Given the description of an element on the screen output the (x, y) to click on. 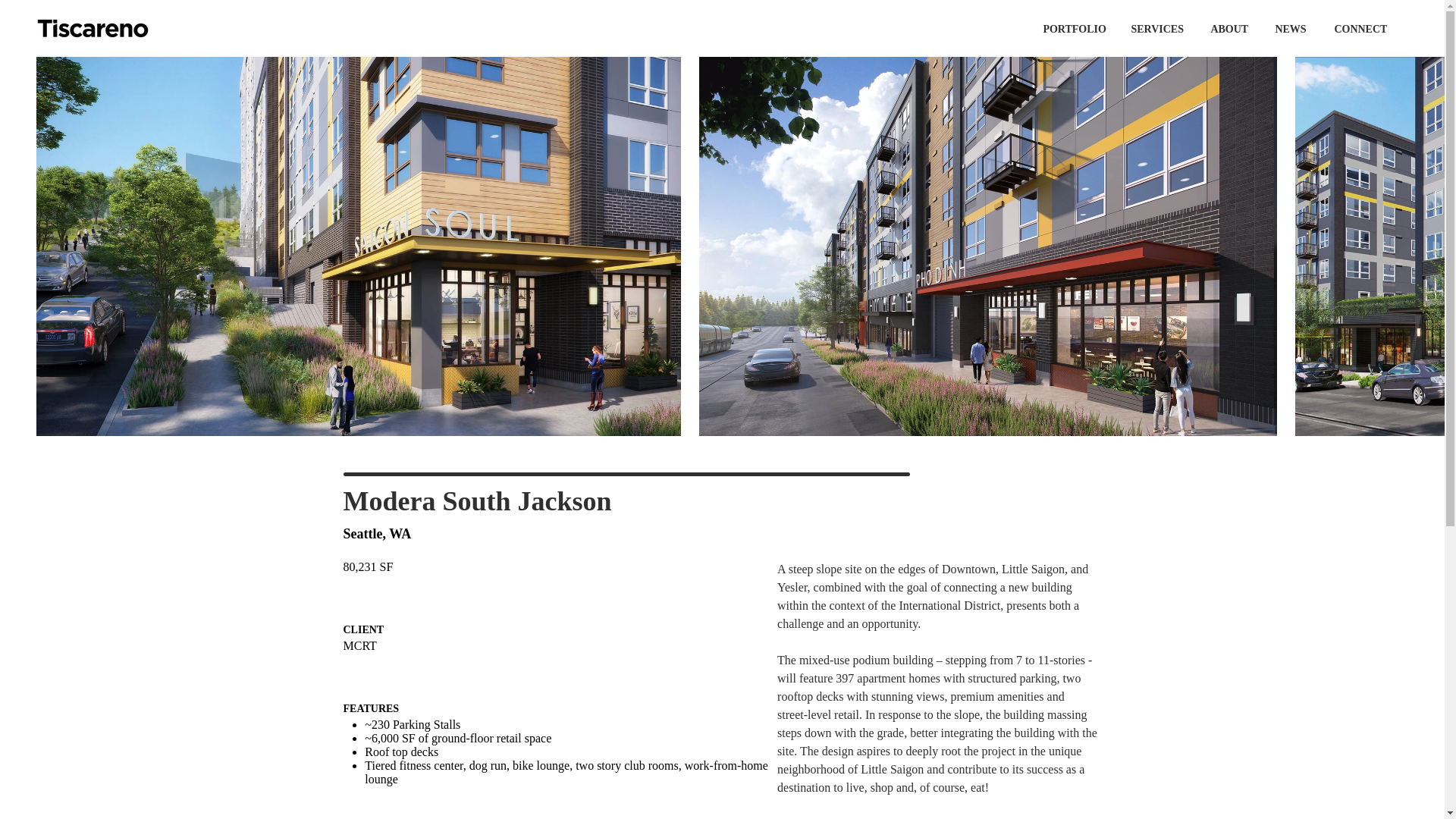
PORTFOLIO (1072, 22)
ABOUT (1228, 22)
CONNECT (1359, 22)
NEWS (1290, 22)
SERVICES (1156, 22)
